Given the description of an element on the screen output the (x, y) to click on. 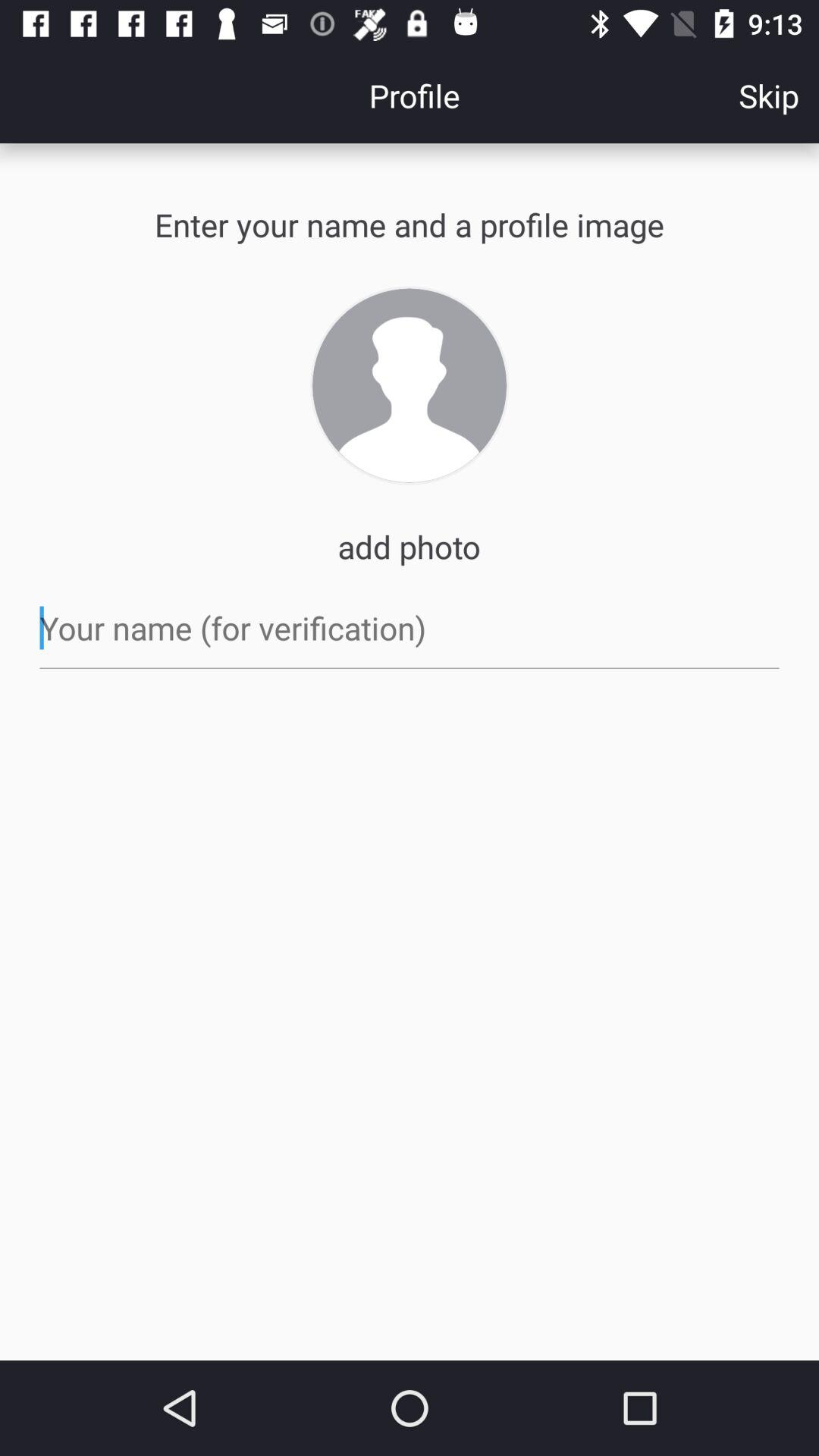
press the item at the top right corner (768, 95)
